Given the description of an element on the screen output the (x, y) to click on. 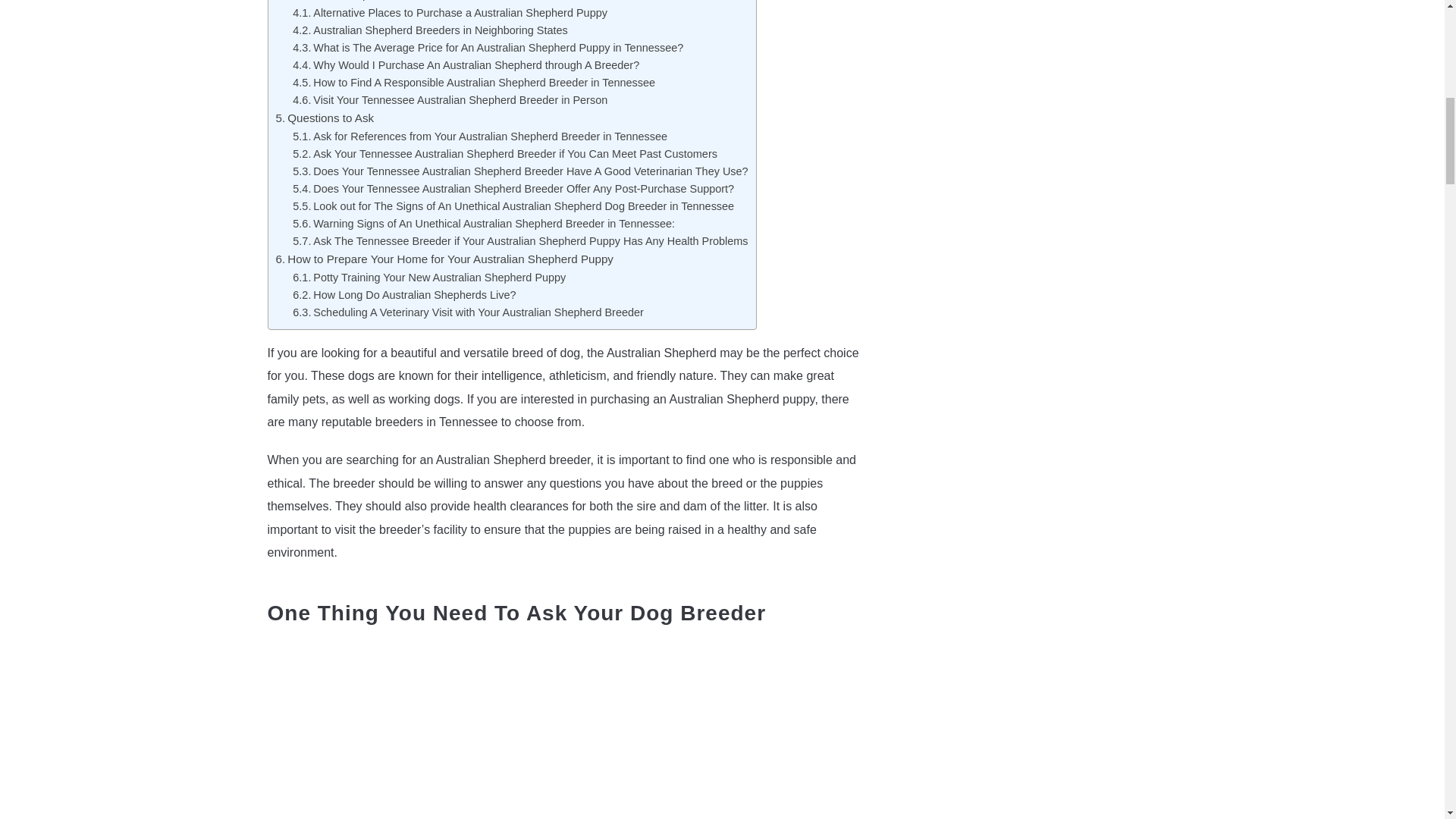
Australian Shepherd Breeders in Neighboring States (429, 30)
Visit Your Tennessee Australian Shepherd Breeder in Person (449, 100)
Potty Training Your New Australian Shepherd Puppy (429, 277)
Alternative Places to Purchase a Australian Shepherd Puppy (449, 12)
How to Prepare Your Home for Your Australian Shepherd Puppy (444, 258)
